Given the description of an element on the screen output the (x, y) to click on. 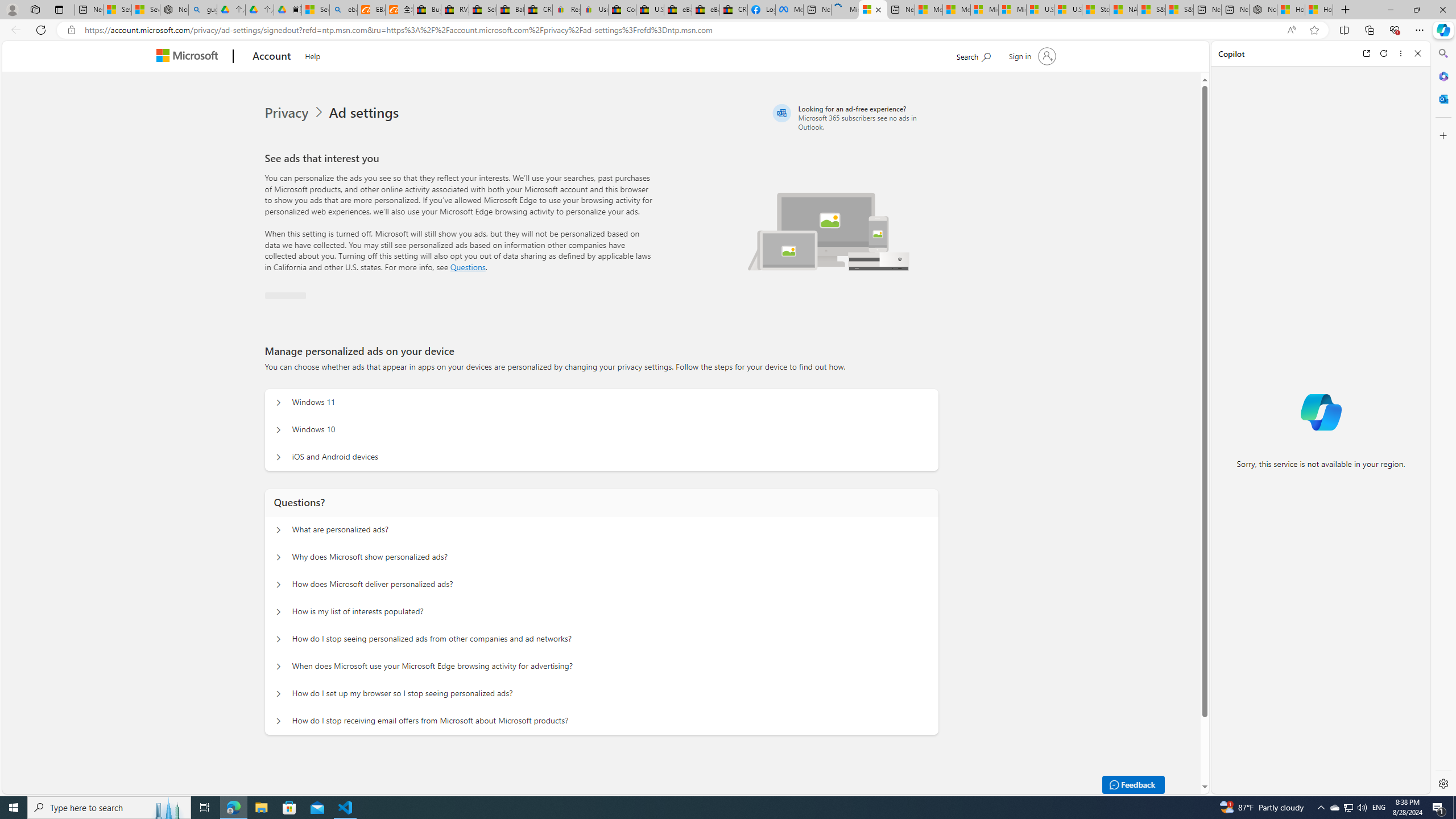
Questions? What are personalized ads? (278, 530)
Privacy (295, 112)
Looking for an ad-free experience? (854, 117)
Sign in to your account (1031, 55)
Go to Questions section (467, 266)
Privacy (287, 112)
